Given the description of an element on the screen output the (x, y) to click on. 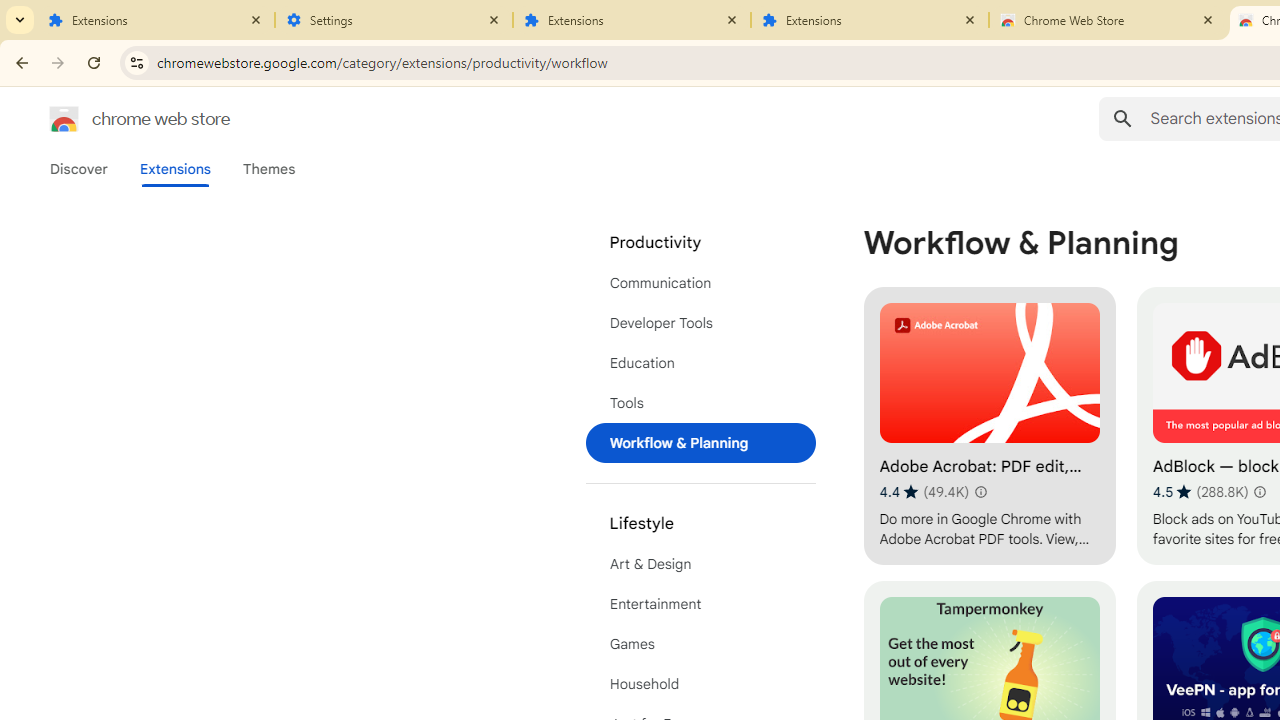
Chrome Web Store (1108, 20)
Settings (394, 20)
Workflow & Planning (selected) (700, 442)
Games (700, 643)
Extensions (632, 20)
Developer Tools (700, 322)
Themes (269, 169)
Extensions (156, 20)
Extensions (174, 169)
Tools (700, 403)
Education (700, 362)
Entertainment (700, 603)
